Given the description of an element on the screen output the (x, y) to click on. 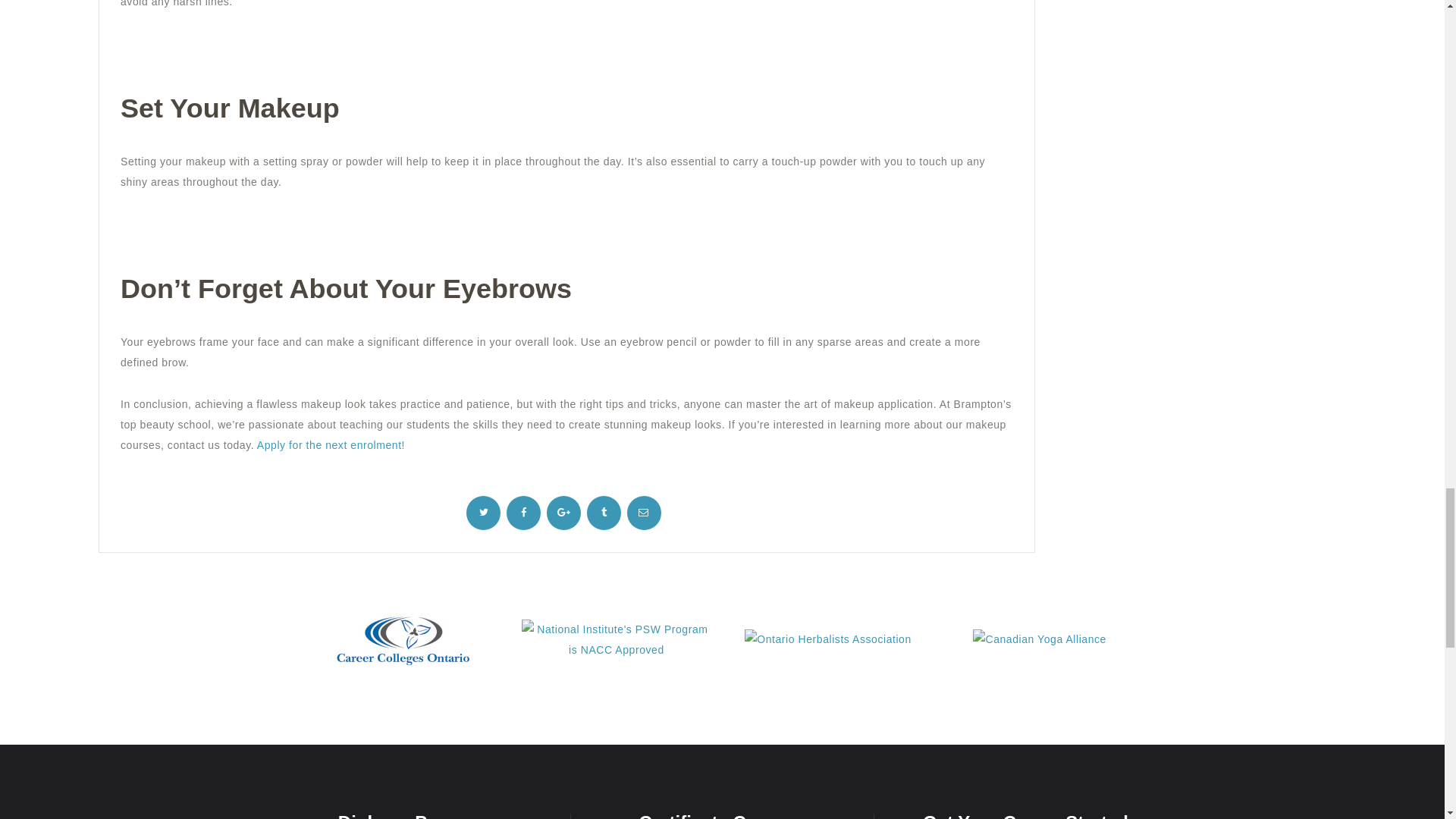
career-colleges-ontario-weblogo (404, 639)
CYA (1038, 639)
NACC (615, 639)
